Given the description of an element on the screen output the (x, y) to click on. 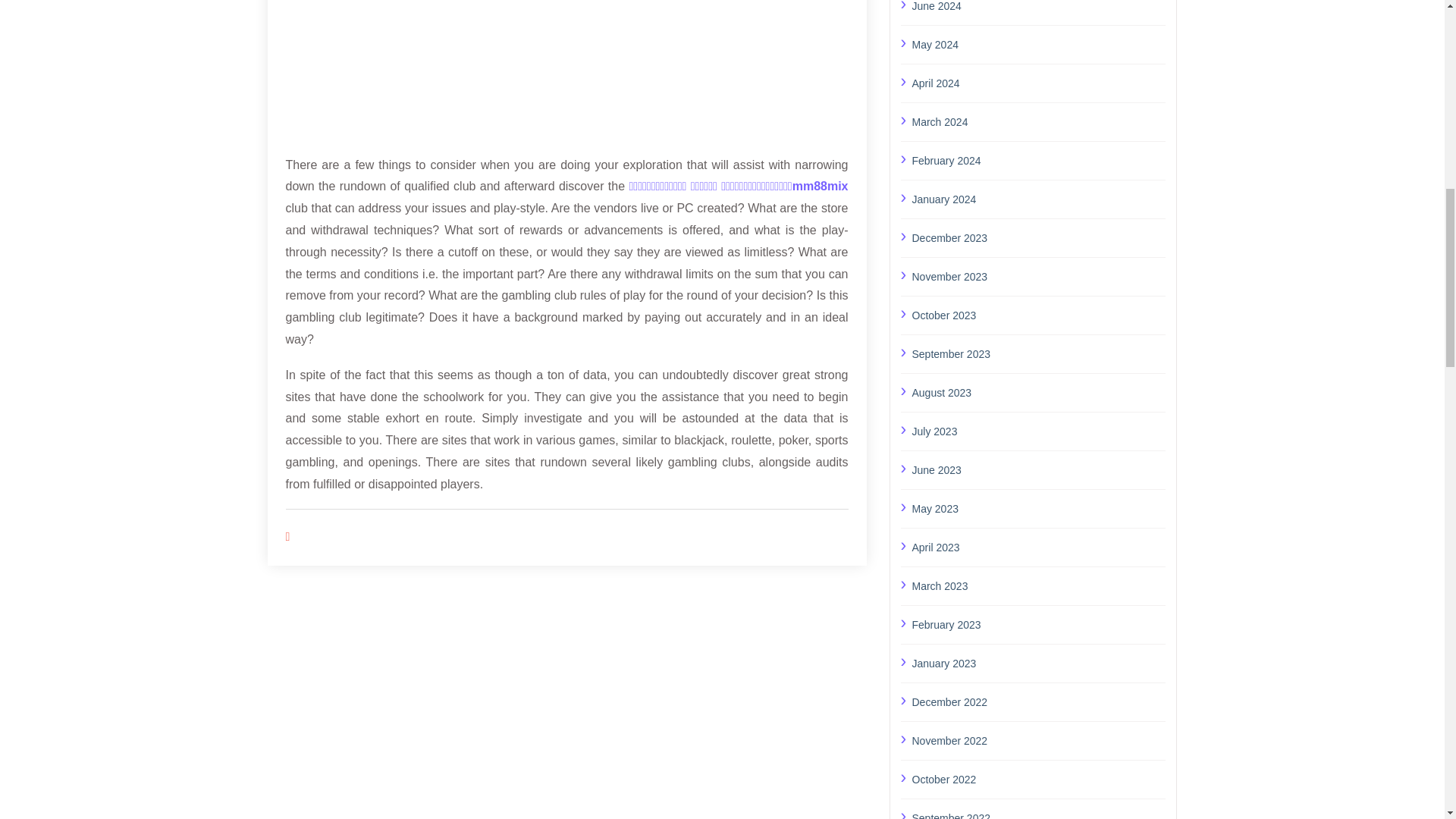
January 2023 (1038, 663)
April 2024 (1038, 83)
June 2023 (1038, 469)
January 2024 (1038, 199)
November 2023 (1038, 276)
April 2023 (1038, 547)
July 2023 (1038, 431)
March 2023 (1038, 586)
May 2024 (1038, 44)
June 2024 (1038, 7)
